Given the description of an element on the screen output the (x, y) to click on. 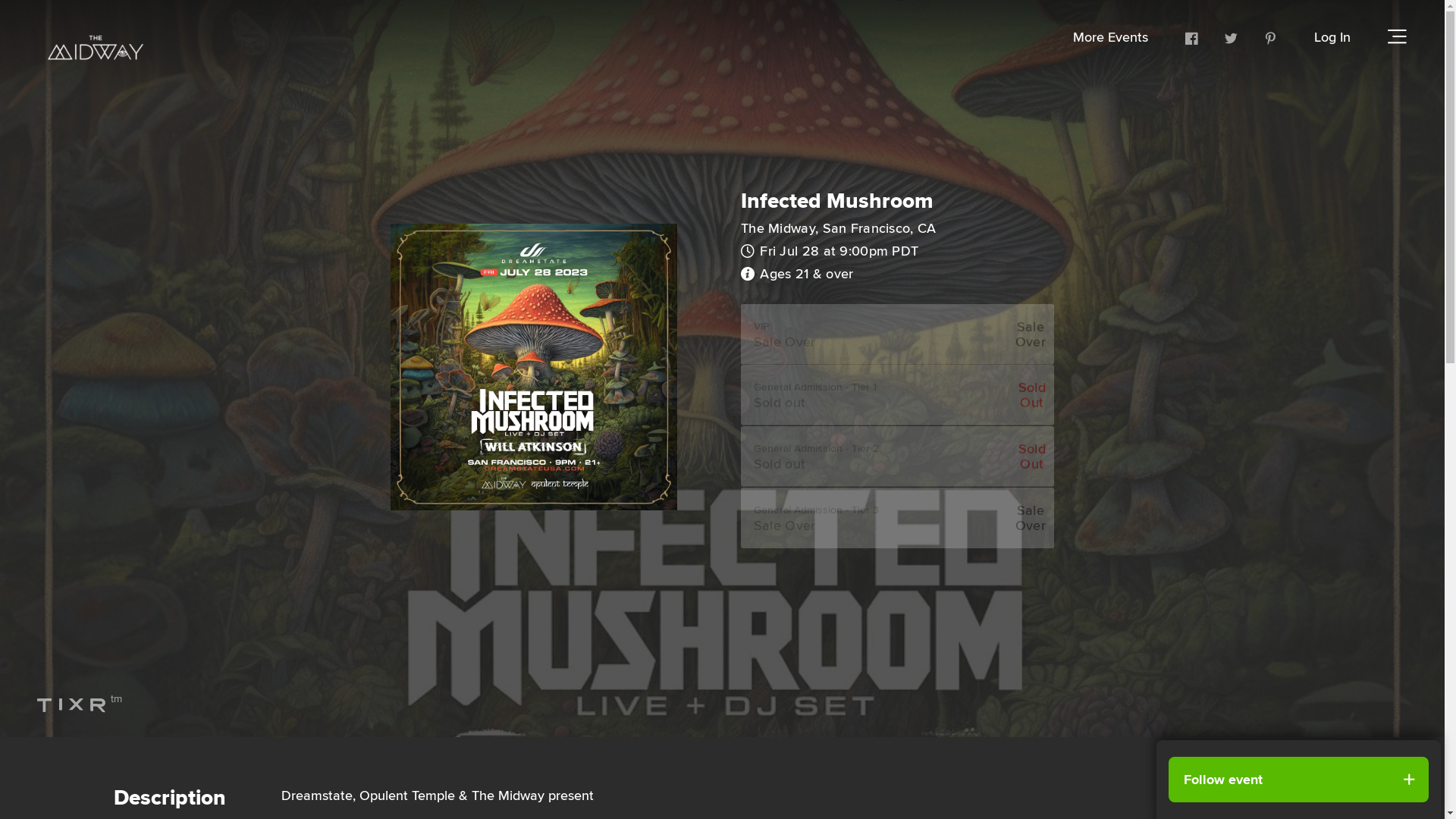
Log In Element type: text (1343, 36)
tm Element type: text (48, 700)
Tweet on Twitter Element type: hover (1230, 35)
More Events Element type: text (1211, 36)
Follow event Element type: text (1298, 779)
Pin on Pinterest Element type: hover (1270, 35)
Share on Facebook Element type: hover (1191, 35)
